Given the description of an element on the screen output the (x, y) to click on. 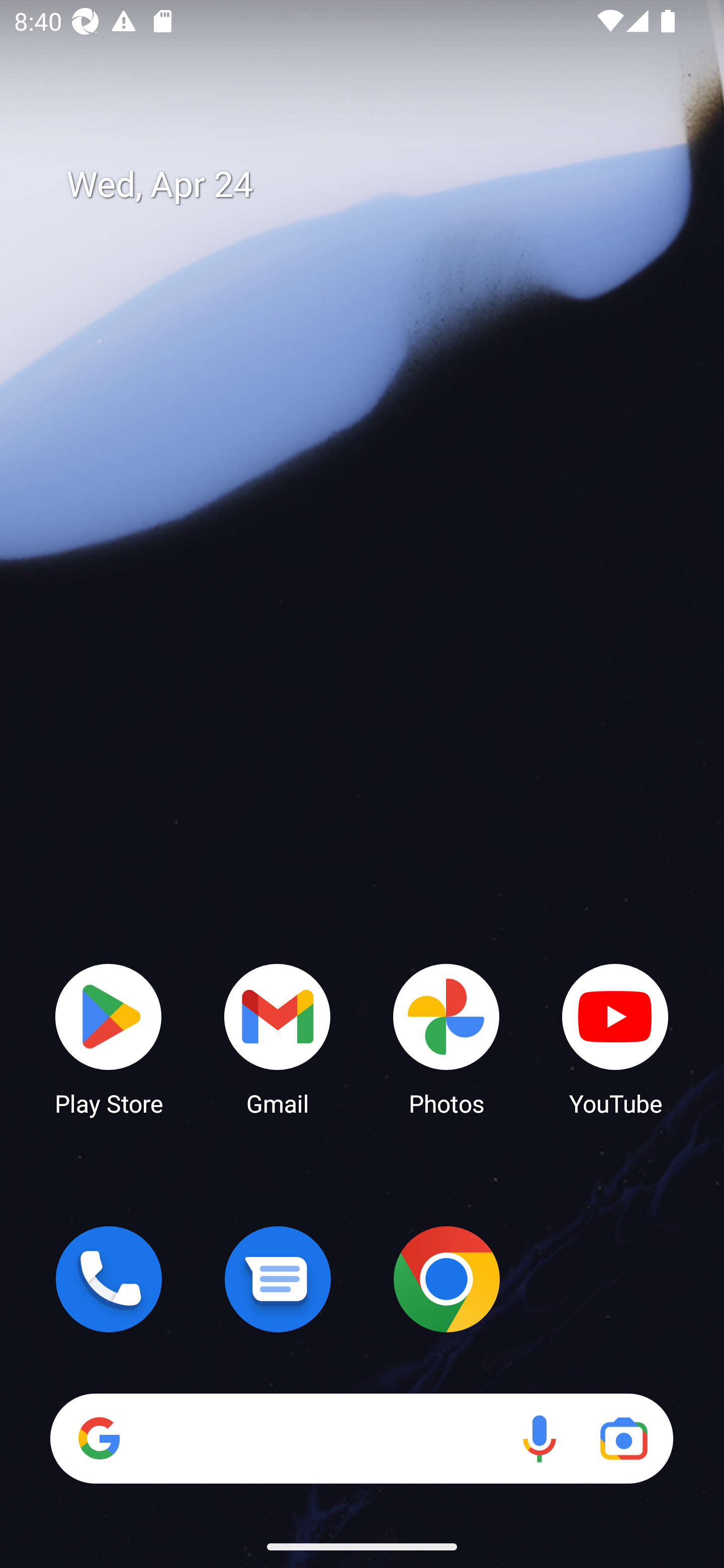
Wed, Apr 24 (375, 184)
Play Store (108, 1038)
Gmail (277, 1038)
Photos (445, 1038)
YouTube (615, 1038)
Phone (108, 1279)
Messages (277, 1279)
Chrome (446, 1279)
Search Voice search Google Lens (361, 1438)
Voice search (539, 1438)
Google Lens (623, 1438)
